Given the description of an element on the screen output the (x, y) to click on. 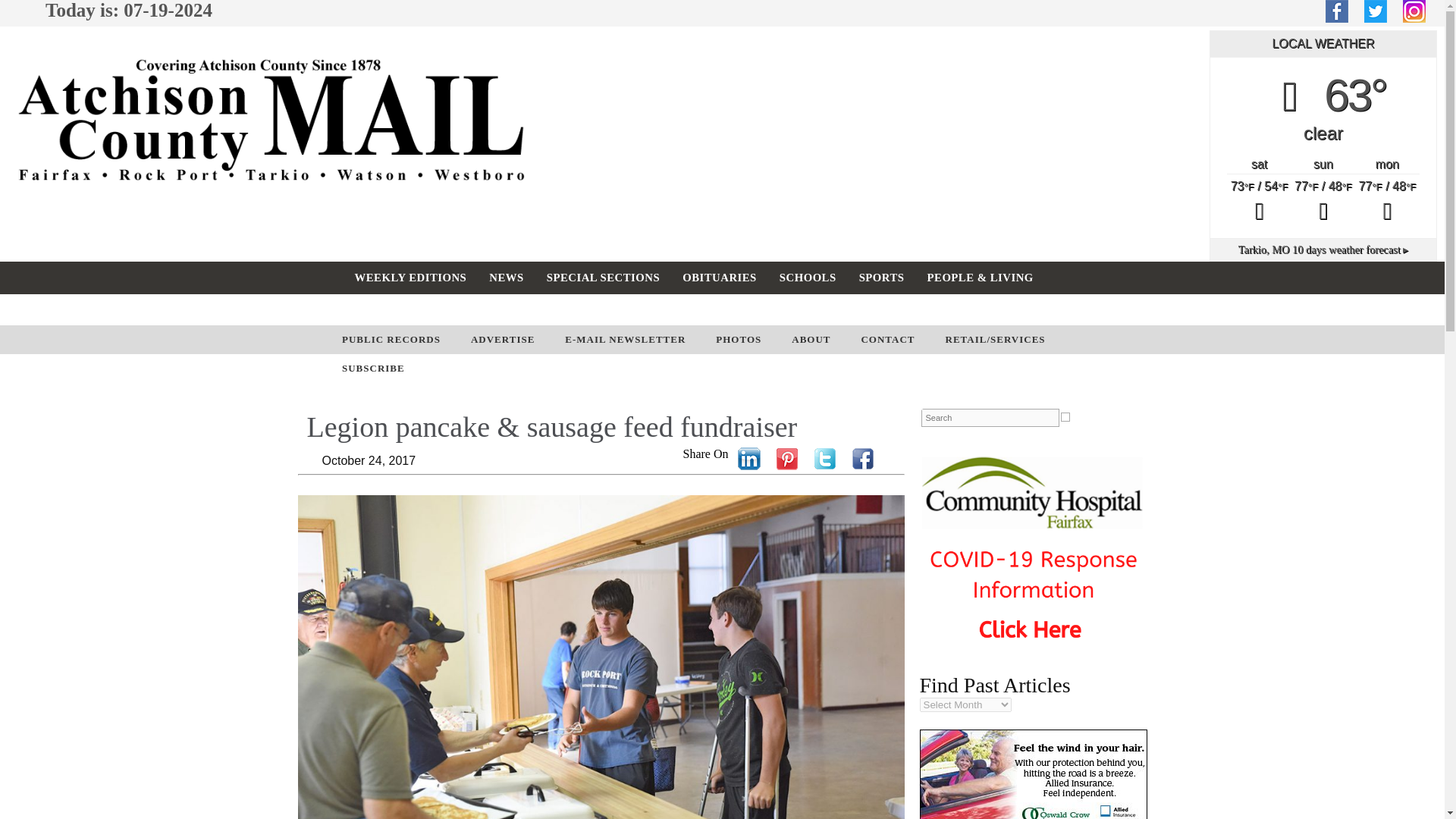
NEWS (505, 277)
SPORTS (881, 277)
SUBSCRIBE (476, 309)
CONTACT (887, 339)
E-MAIL NEWSLETTER (625, 339)
SPECIAL SECTIONS (603, 277)
Sunny (1386, 202)
OBITUARIES (719, 277)
WEEKLY EDITIONS (409, 277)
PM Thunderstorms (1258, 202)
Sunny (1323, 202)
Tarkio, MO - 10 days weather forecast (1324, 249)
SCHOOLS (807, 277)
CALENDAR (387, 309)
SUBSCRIBE (373, 368)
